Given the description of an element on the screen output the (x, y) to click on. 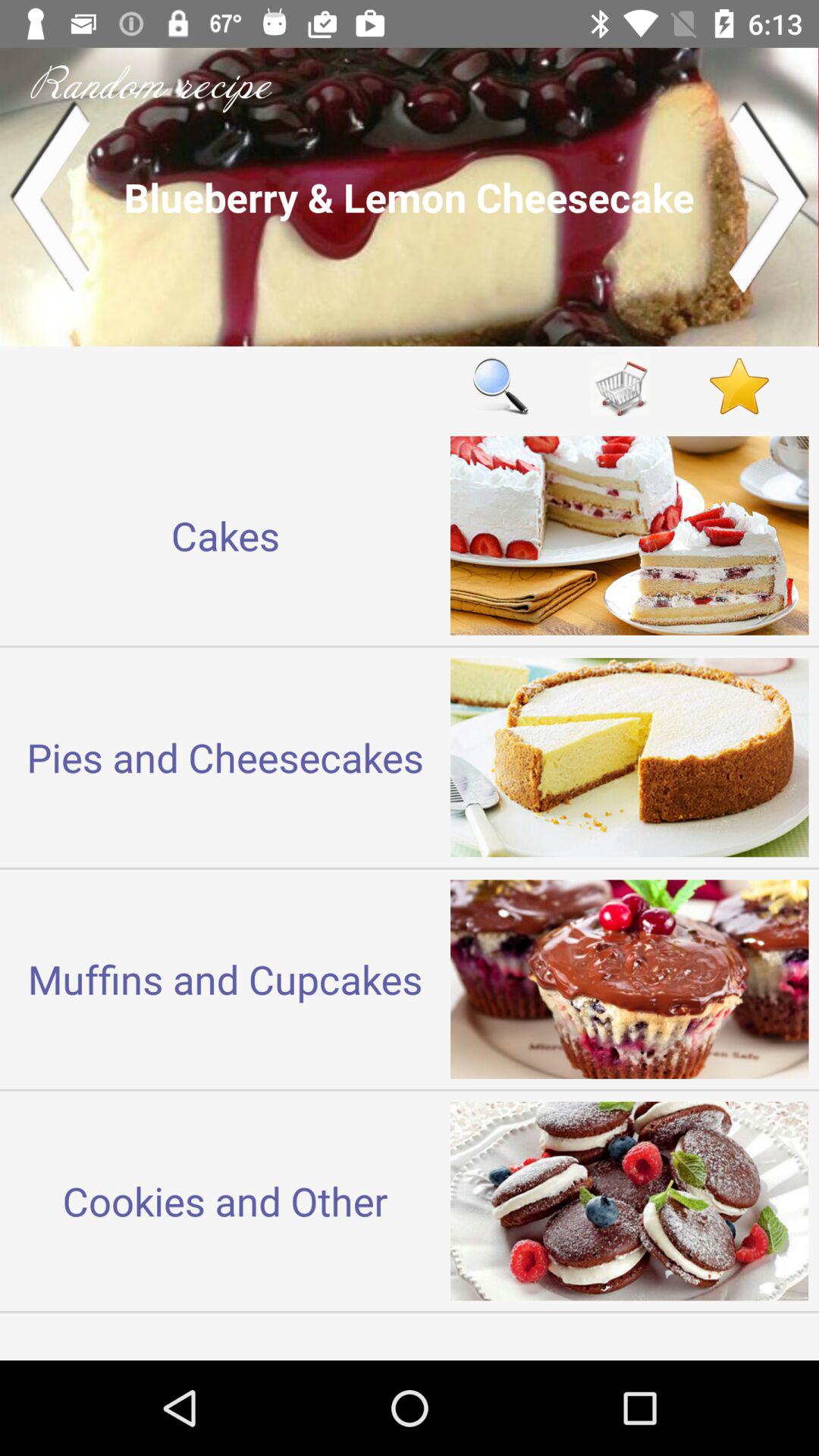
jump to cakes icon (225, 534)
